Given the description of an element on the screen output the (x, y) to click on. 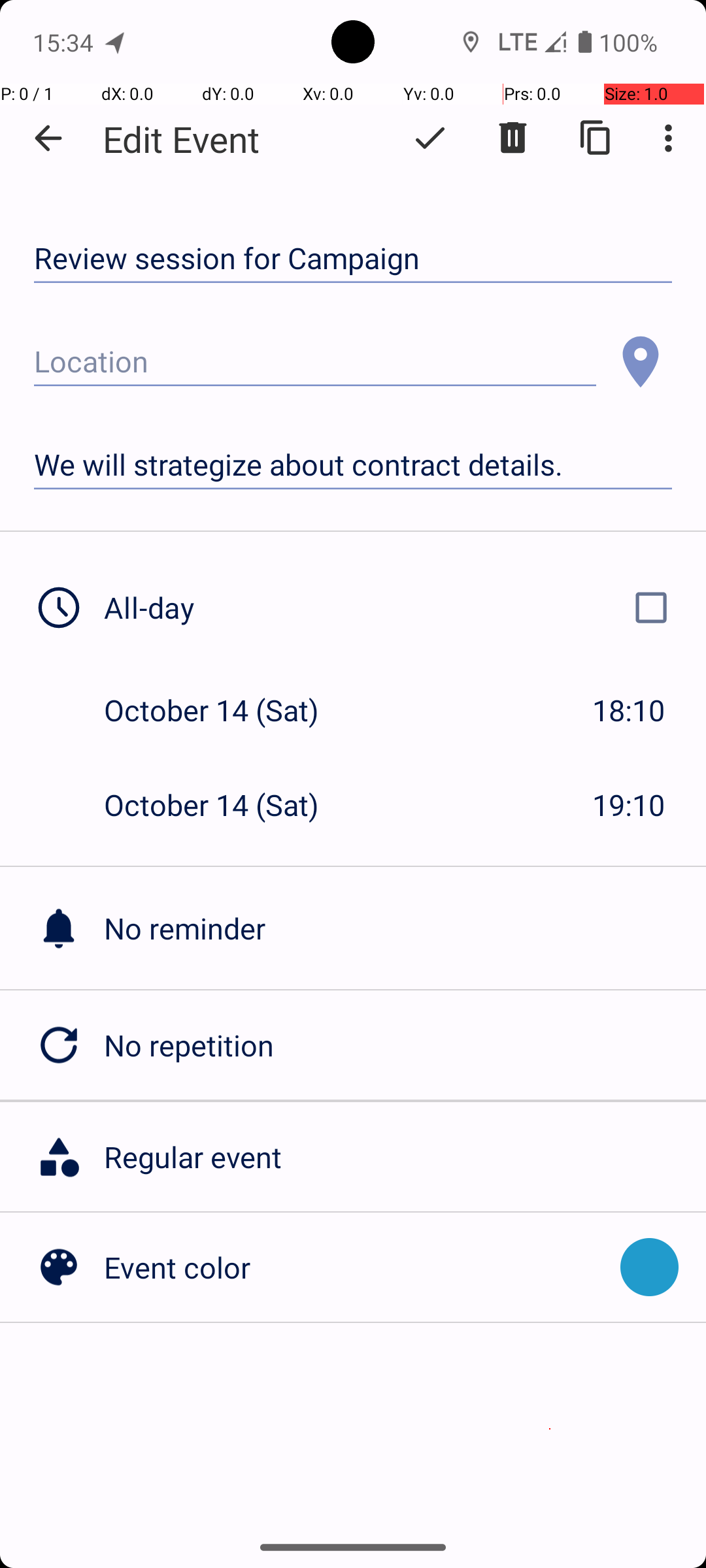
We will strategize about contract details. Element type: android.widget.EditText (352, 465)
October 14 (Sat) Element type: android.widget.TextView (224, 709)
18:10 Element type: android.widget.TextView (628, 709)
19:10 Element type: android.widget.TextView (628, 804)
